Given the description of an element on the screen output the (x, y) to click on. 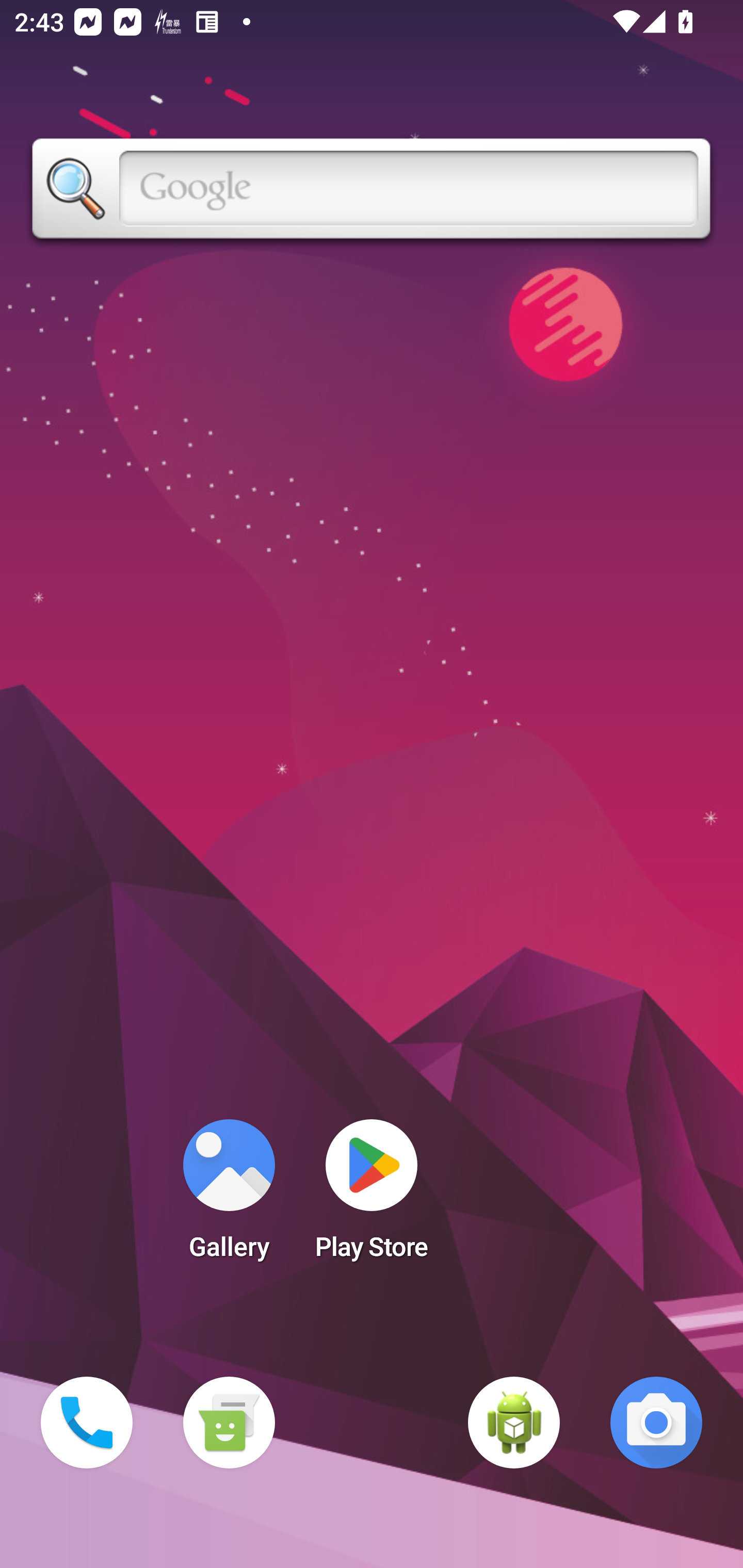
Gallery (228, 1195)
Play Store (371, 1195)
Phone (86, 1422)
Messaging (228, 1422)
WebView Browser Tester (513, 1422)
Camera (656, 1422)
